Given the description of an element on the screen output the (x, y) to click on. 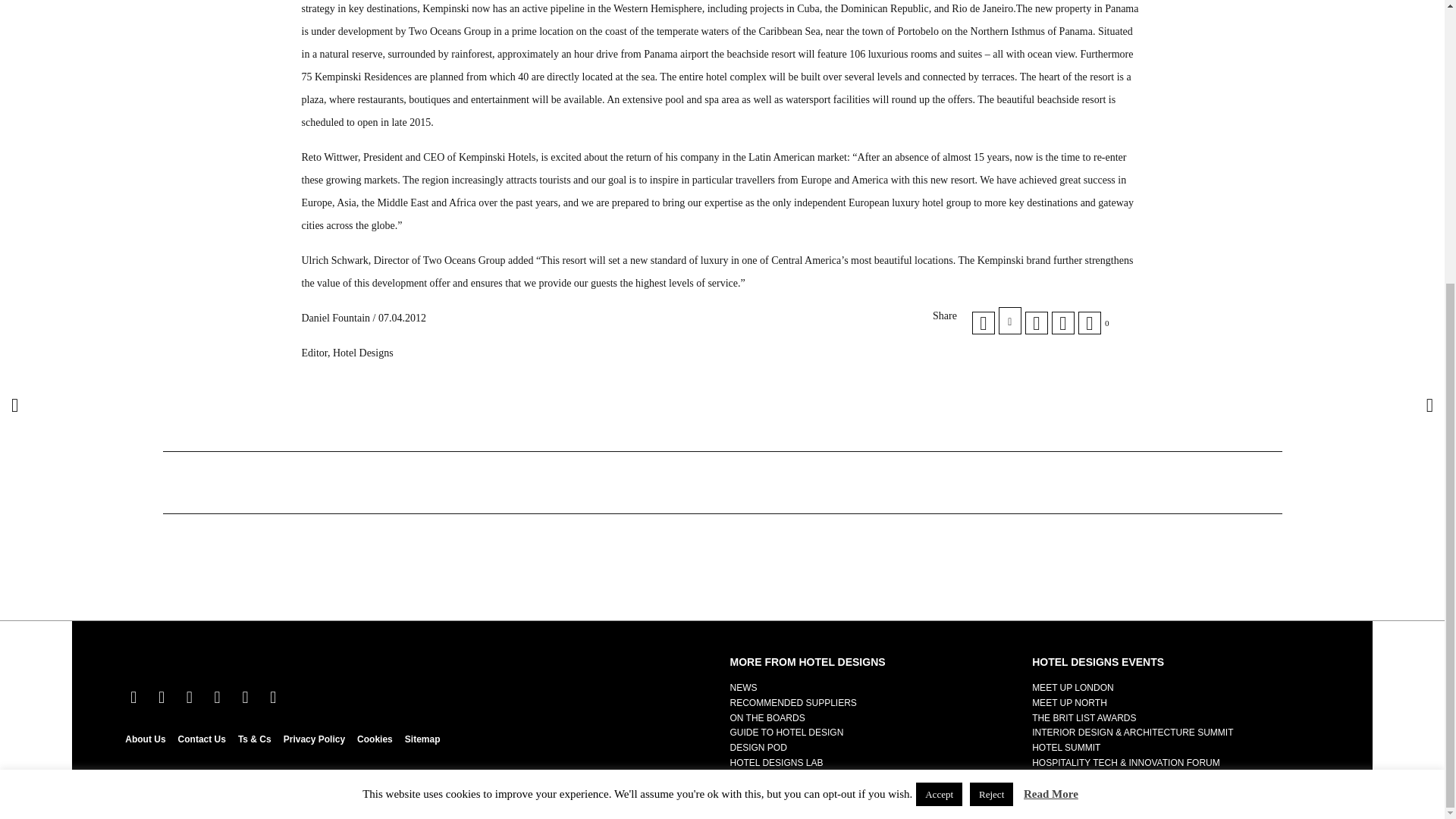
Kempinski re-enters Latin America (1036, 323)
Kempinski re-enters Latin America (1062, 323)
Kempinski re-enters Latin America (983, 323)
